Given the description of an element on the screen output the (x, y) to click on. 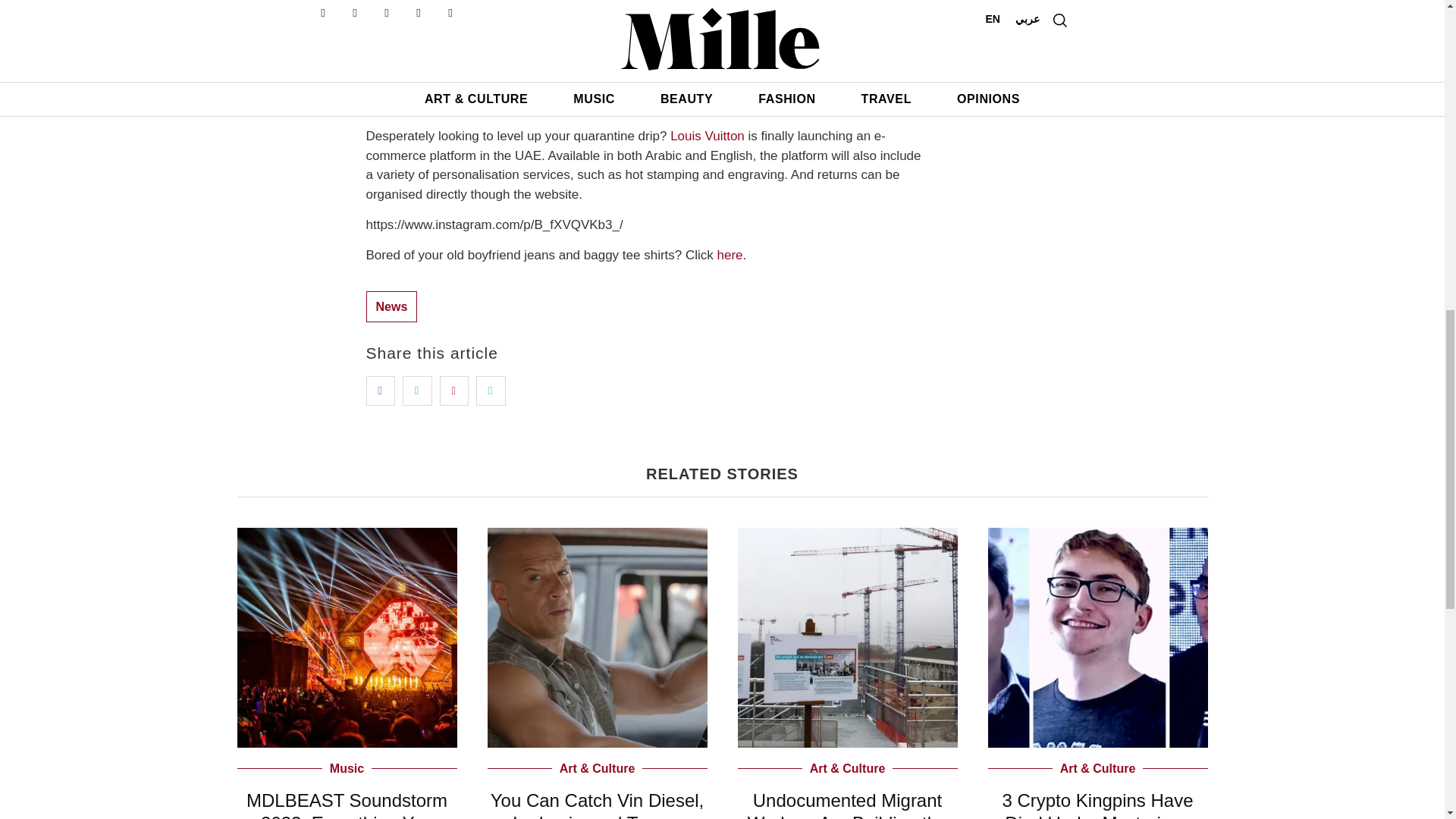
Vin Diesel (596, 637)
crypto3 (1097, 637)
mdlbest (346, 637)
